Given the description of an element on the screen output the (x, y) to click on. 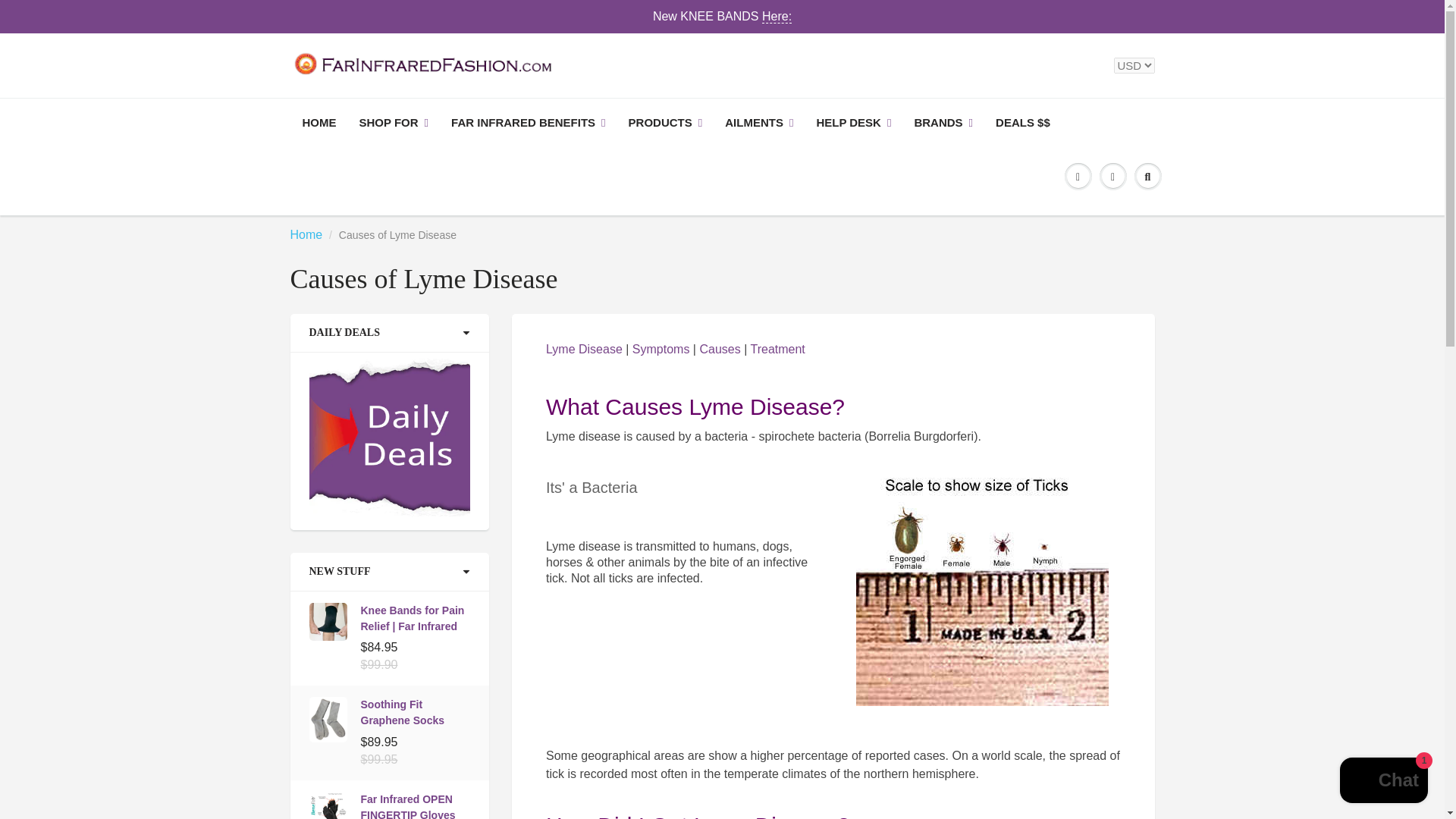
Symptoms of Lyme Disease (660, 349)
PRODUCTS (665, 122)
SHOP FOR (393, 122)
Treatment of Lyme Disease (777, 349)
HOME (319, 122)
Here: (776, 16)
Shopify online store chat (1383, 781)
FAR INFRARED BENEFITS (528, 122)
Causes of Lyme Disease (718, 349)
What is Lyme Disease? (584, 349)
Home (305, 234)
